Given the description of an element on the screen output the (x, y) to click on. 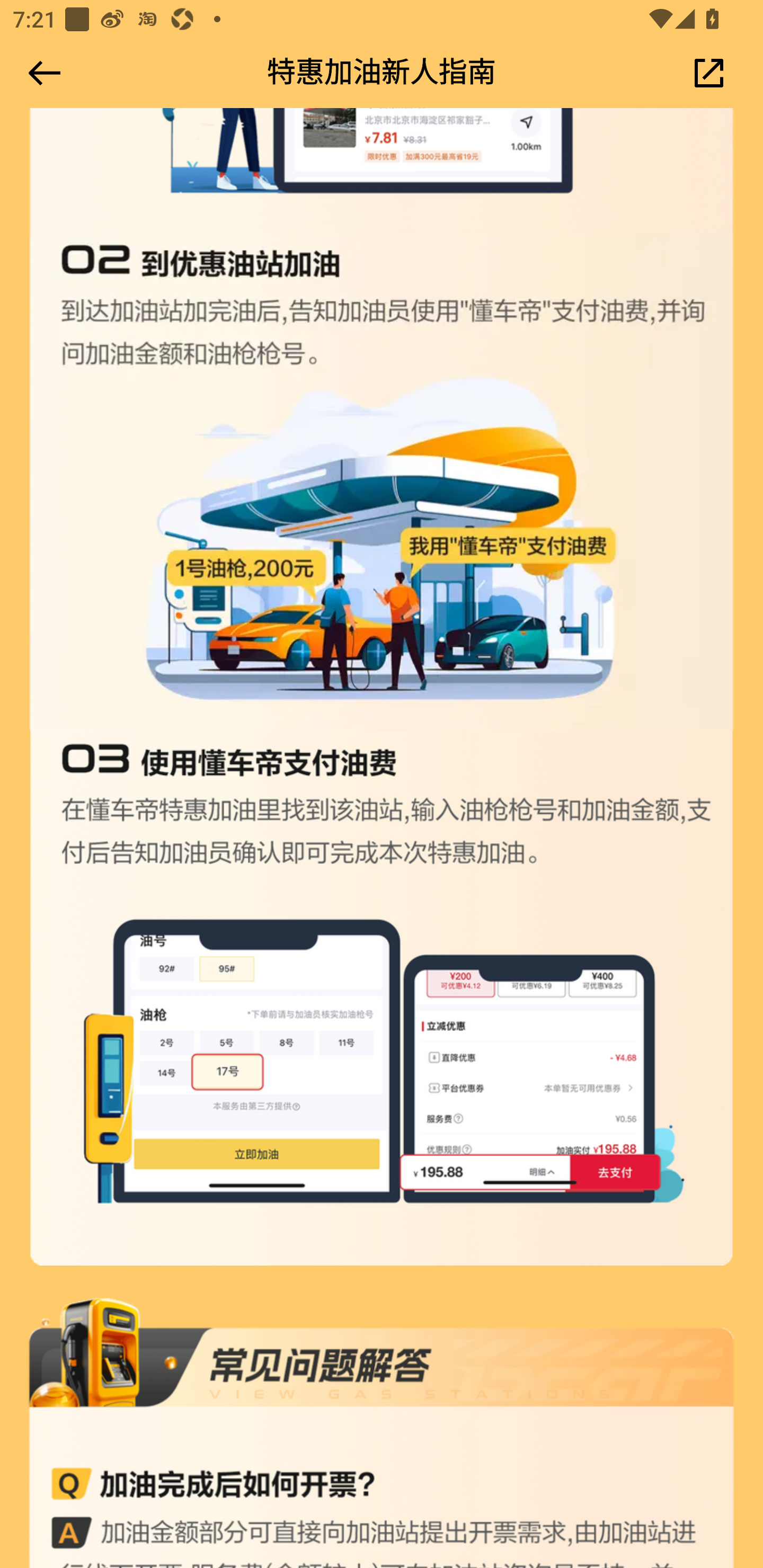
 (41, 72)
特惠加油新人指南 (381, 74)
14a7d42522a04777a6d7a31f1b4ff920~750x0 (381, 483)
bf2412f6db8d41e3a42435806a9d8946~750x0 (381, 999)
525ae24bb38340999744416a3d79a07b~750x0 (381, 1432)
